Given the description of an element on the screen output the (x, y) to click on. 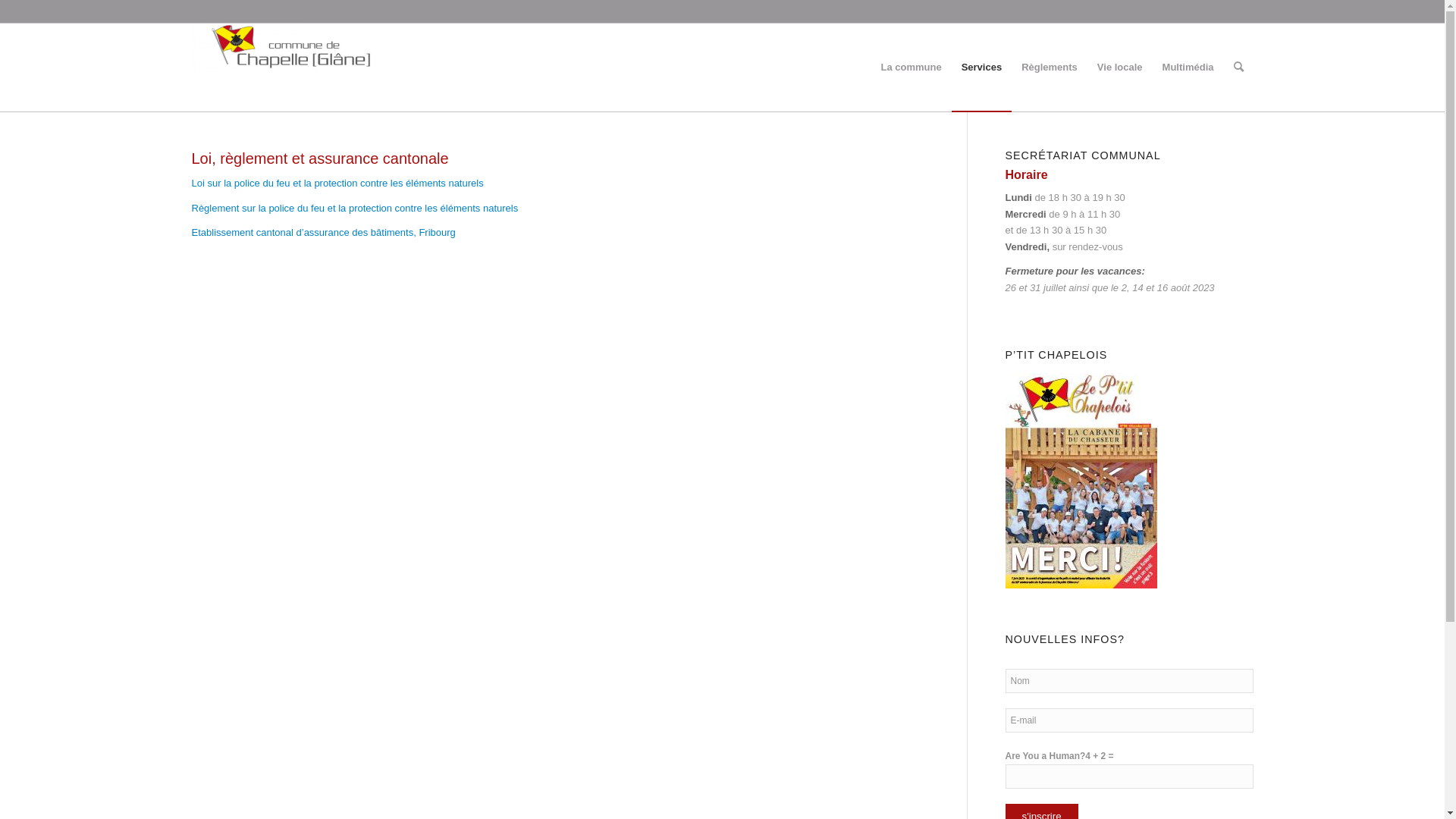
Services Element type: text (981, 67)
Vie locale Element type: text (1119, 67)
Accueil Element type: text (1159, 10)
Sitemap Element type: text (1236, 10)
La commune Element type: text (910, 67)
Contact Element type: text (1197, 10)
